Given the description of an element on the screen output the (x, y) to click on. 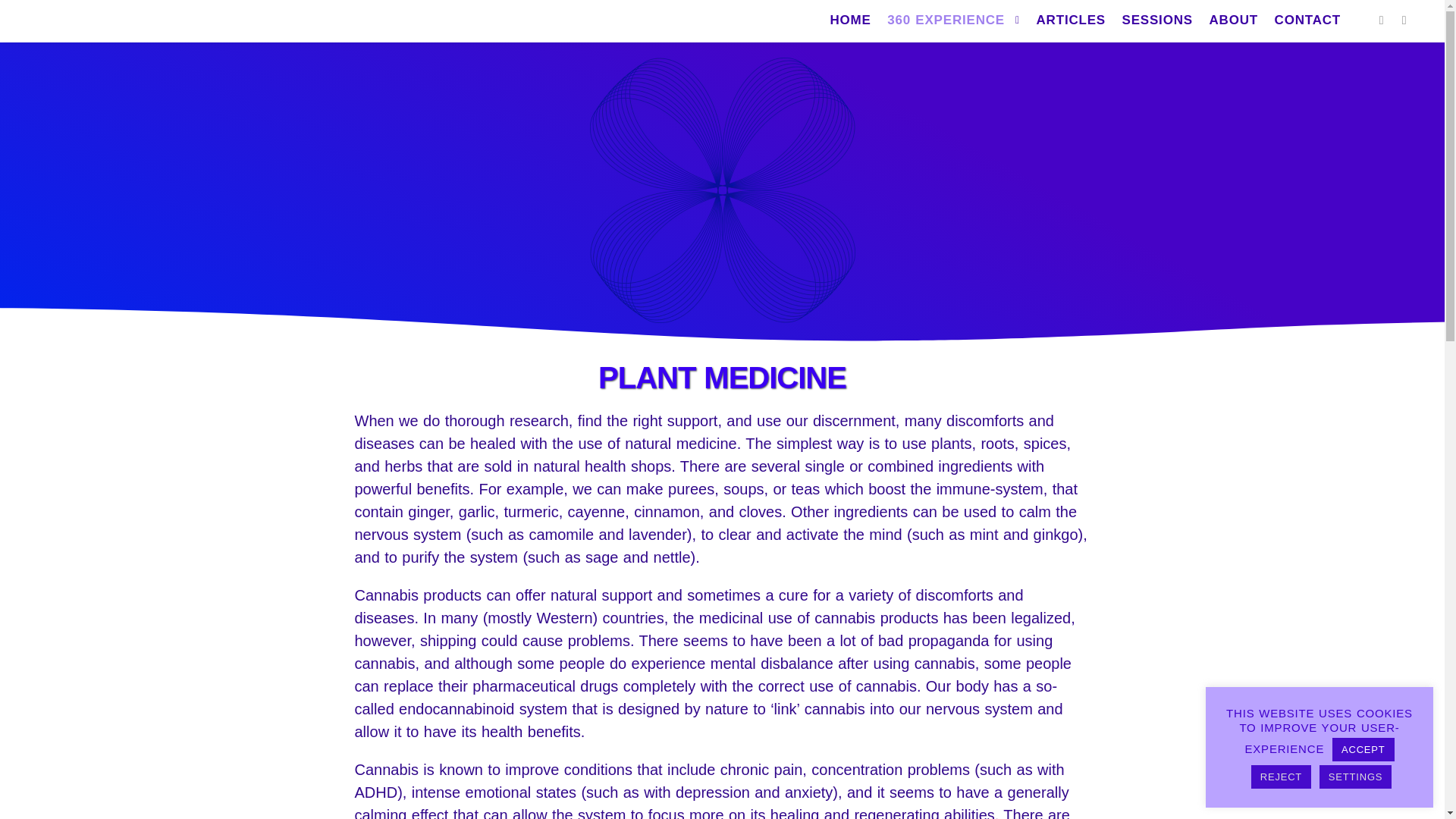
360 EXPERIENCE (943, 20)
HOME (849, 20)
Self-Realization Tools (84, 20)
Linkedin (1403, 20)
E-mail (1381, 20)
Mandala (722, 189)
